Given the description of an element on the screen output the (x, y) to click on. 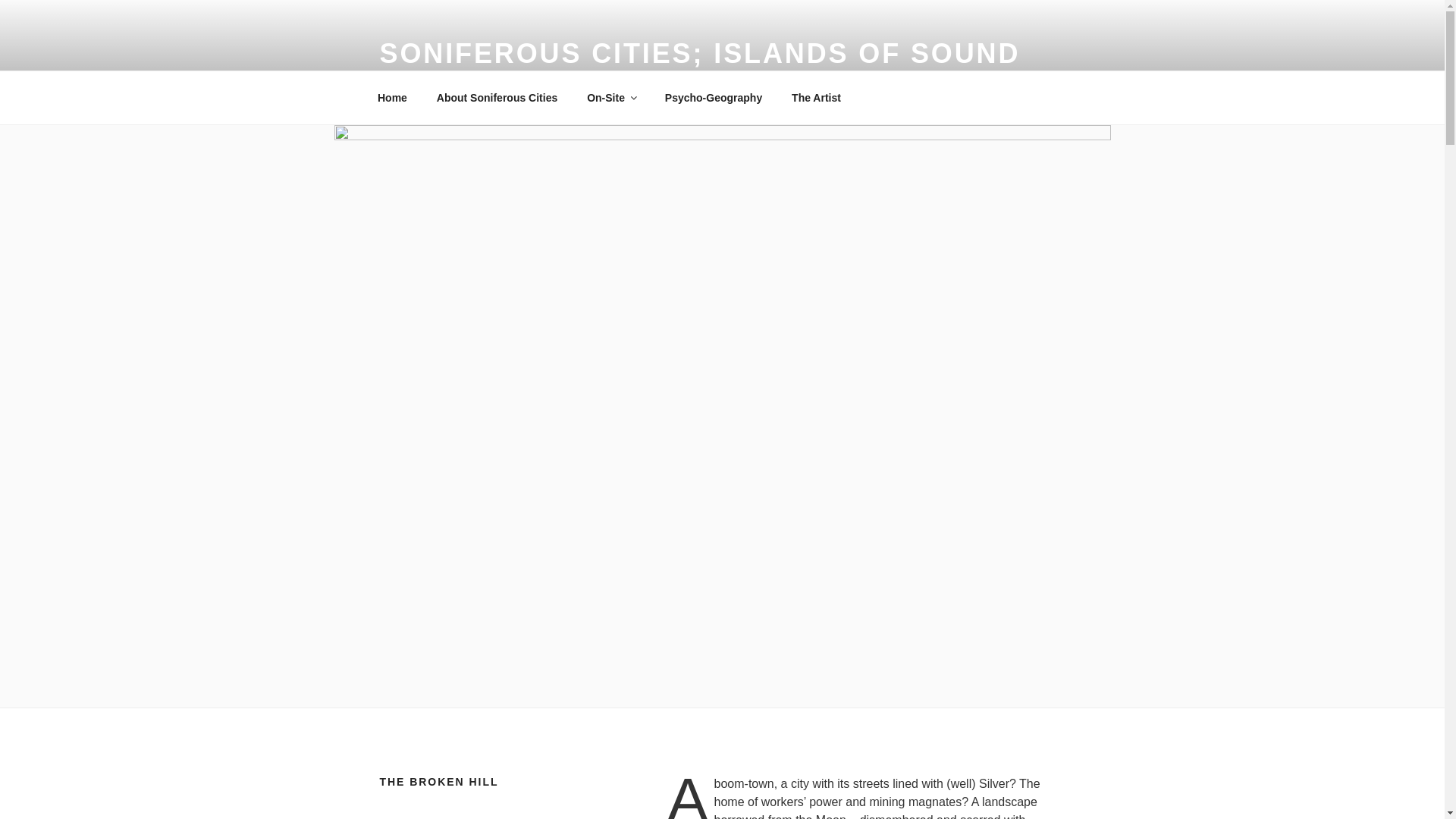
About Soniferous Cities (496, 97)
On-Site (611, 97)
Home (392, 97)
SONIFEROUS CITIES; ISLANDS OF SOUND (699, 52)
